Given the description of an element on the screen output the (x, y) to click on. 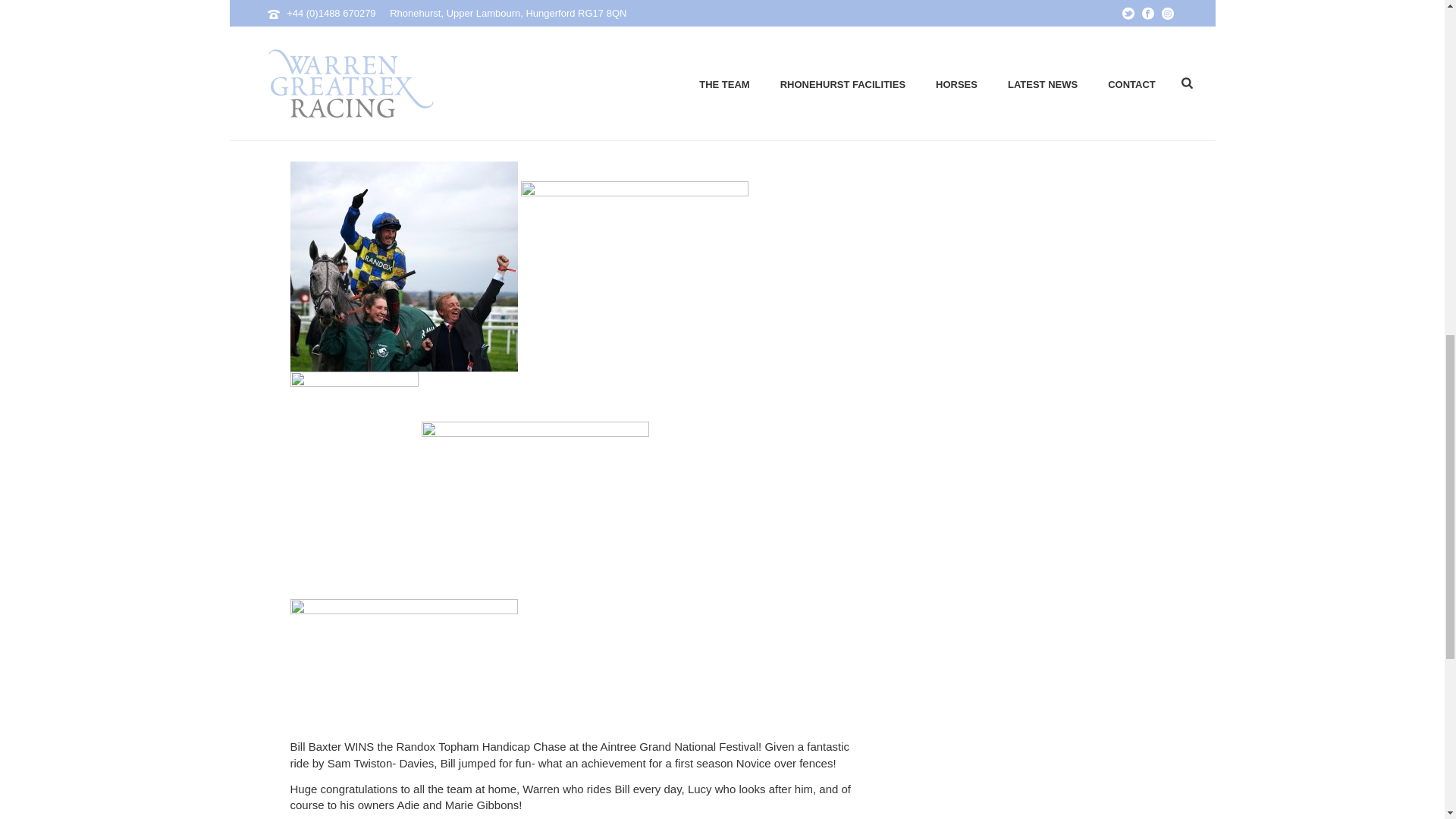
Posts by Karen Dooley (314, 131)
Karen Dooley (314, 131)
Latest News (500, 131)
April 14, 2023 (420, 131)
